Given the description of an element on the screen output the (x, y) to click on. 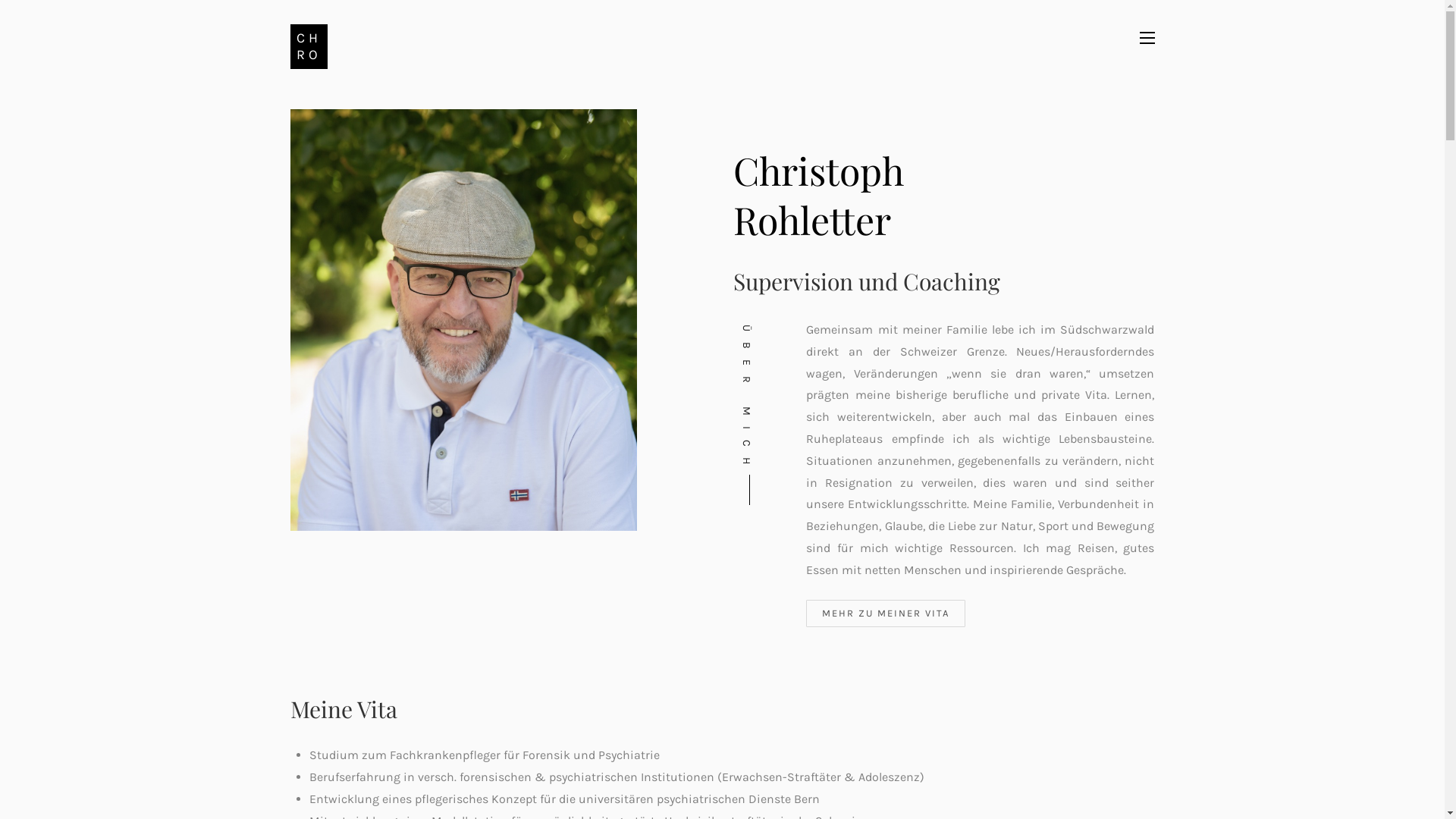
CH
RO Element type: text (307, 46)
MEHR ZU MEINER VITA Element type: text (885, 613)
